Given the description of an element on the screen output the (x, y) to click on. 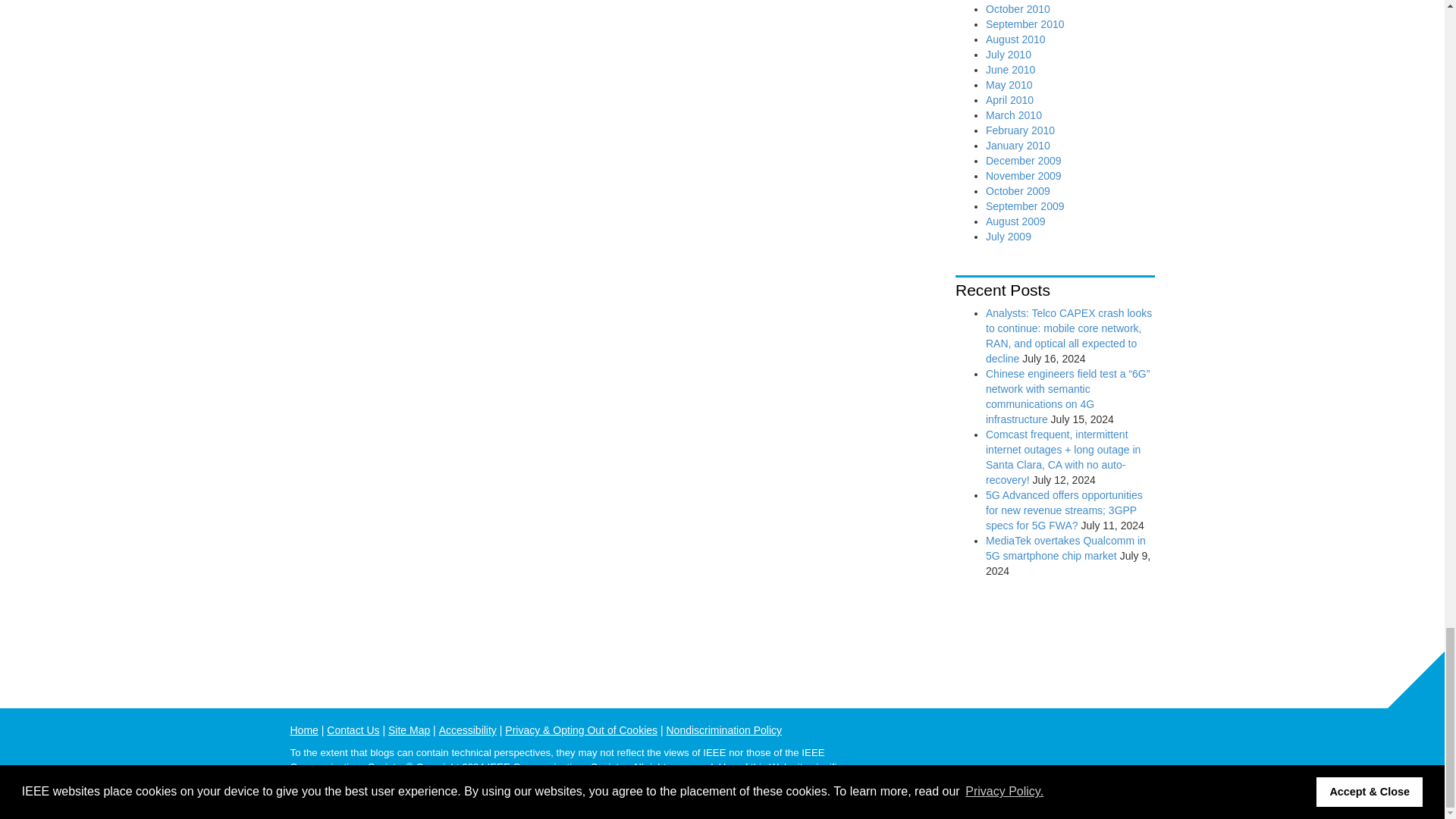
IEEE (1142, 738)
